Given the description of an element on the screen output the (x, y) to click on. 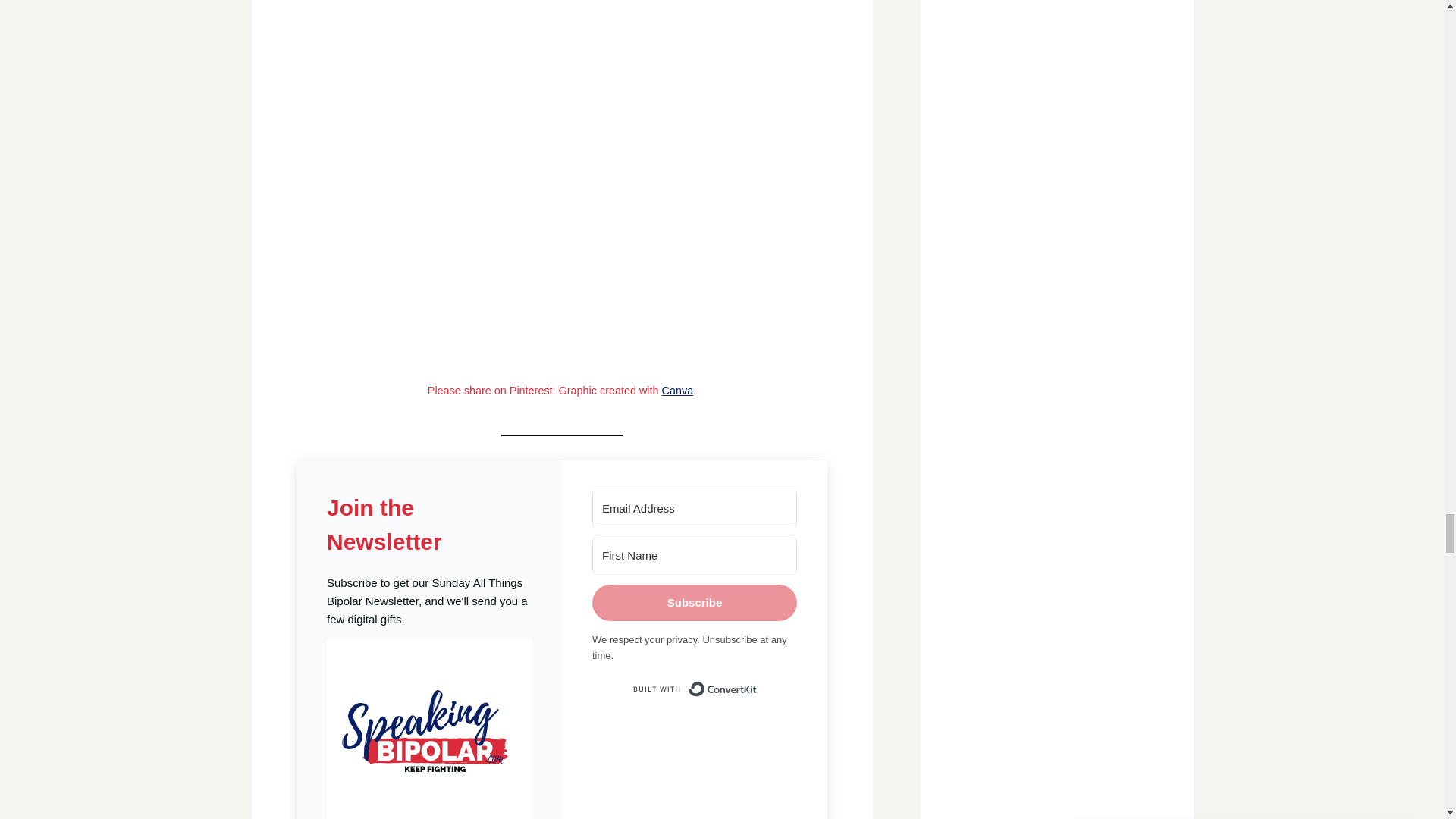
Subscribe (694, 602)
Canva (678, 390)
